Given the description of an element on the screen output the (x, y) to click on. 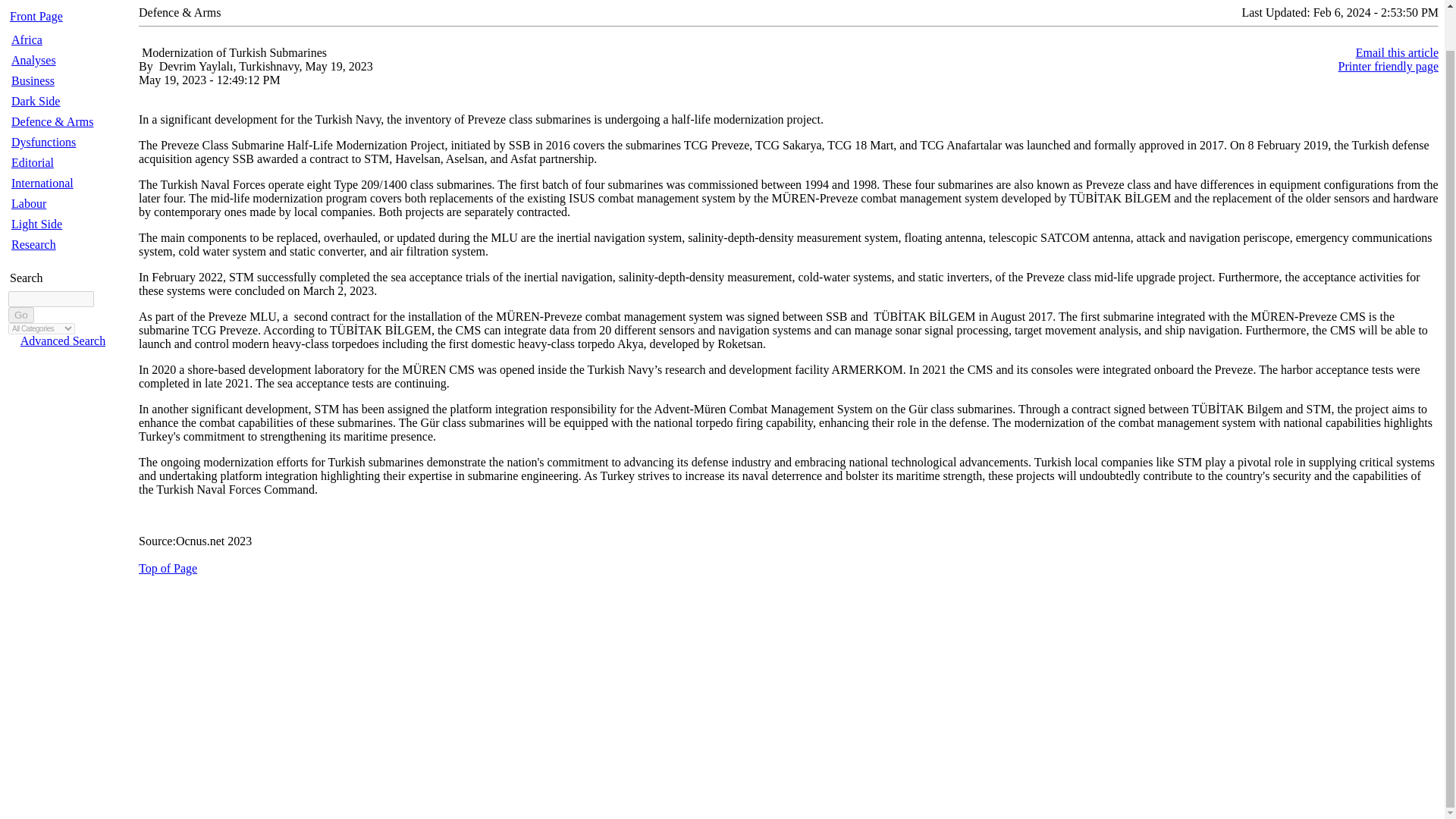
Africa (26, 39)
Front Page (36, 15)
Email this article (1396, 51)
Labour (28, 203)
Dark Side (35, 101)
Business (33, 80)
Go (20, 314)
International (42, 182)
Light Side (36, 223)
Printer friendly page (1388, 65)
Analyses (33, 60)
Dysfunctions (43, 141)
Editorial (32, 162)
Research (33, 244)
Go (20, 314)
